Given the description of an element on the screen output the (x, y) to click on. 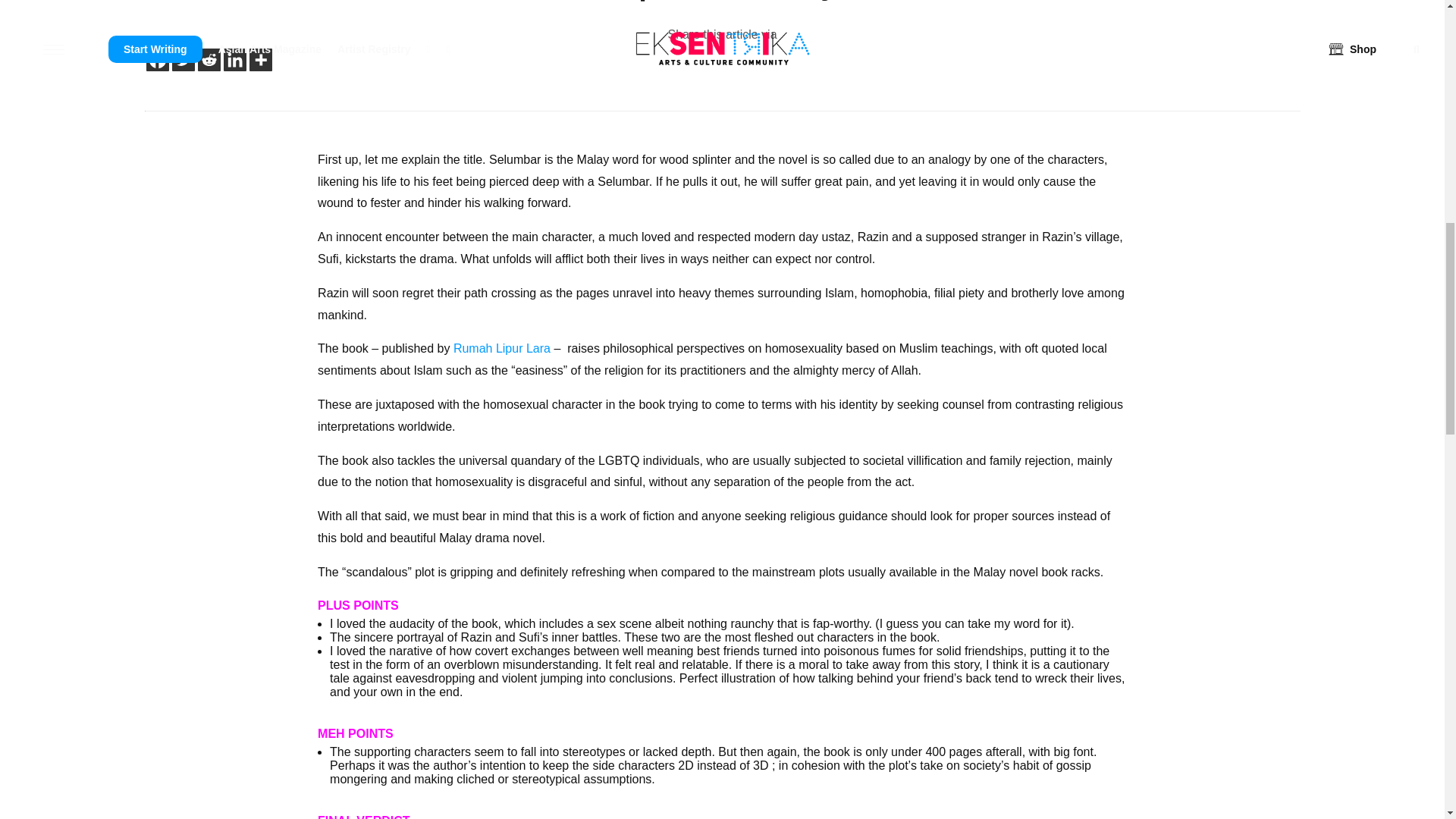
Twitter (182, 59)
Facebook (156, 59)
Reddit (207, 59)
